Given the description of an element on the screen output the (x, y) to click on. 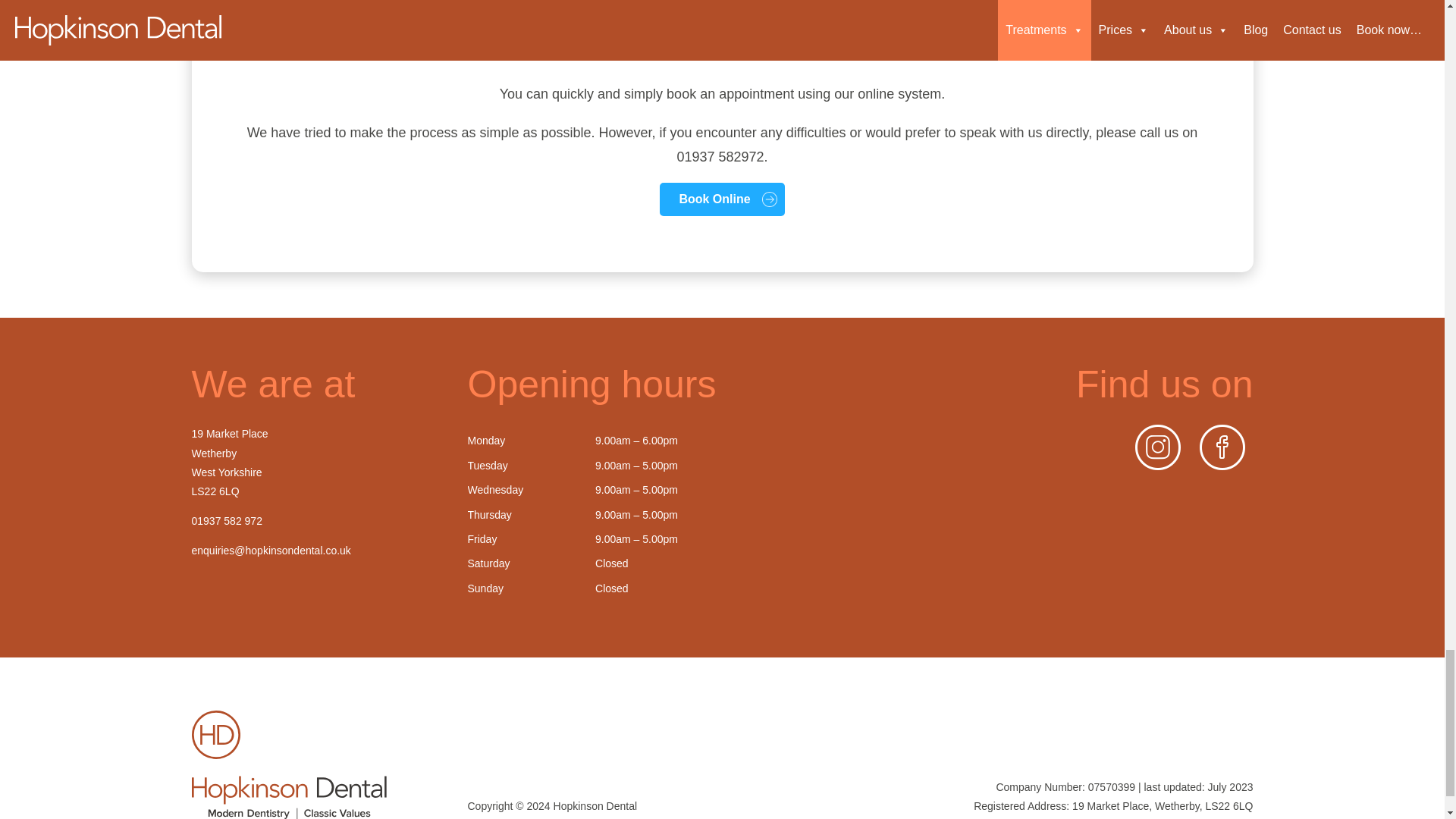
Book Online (721, 199)
